Given the description of an element on the screen output the (x, y) to click on. 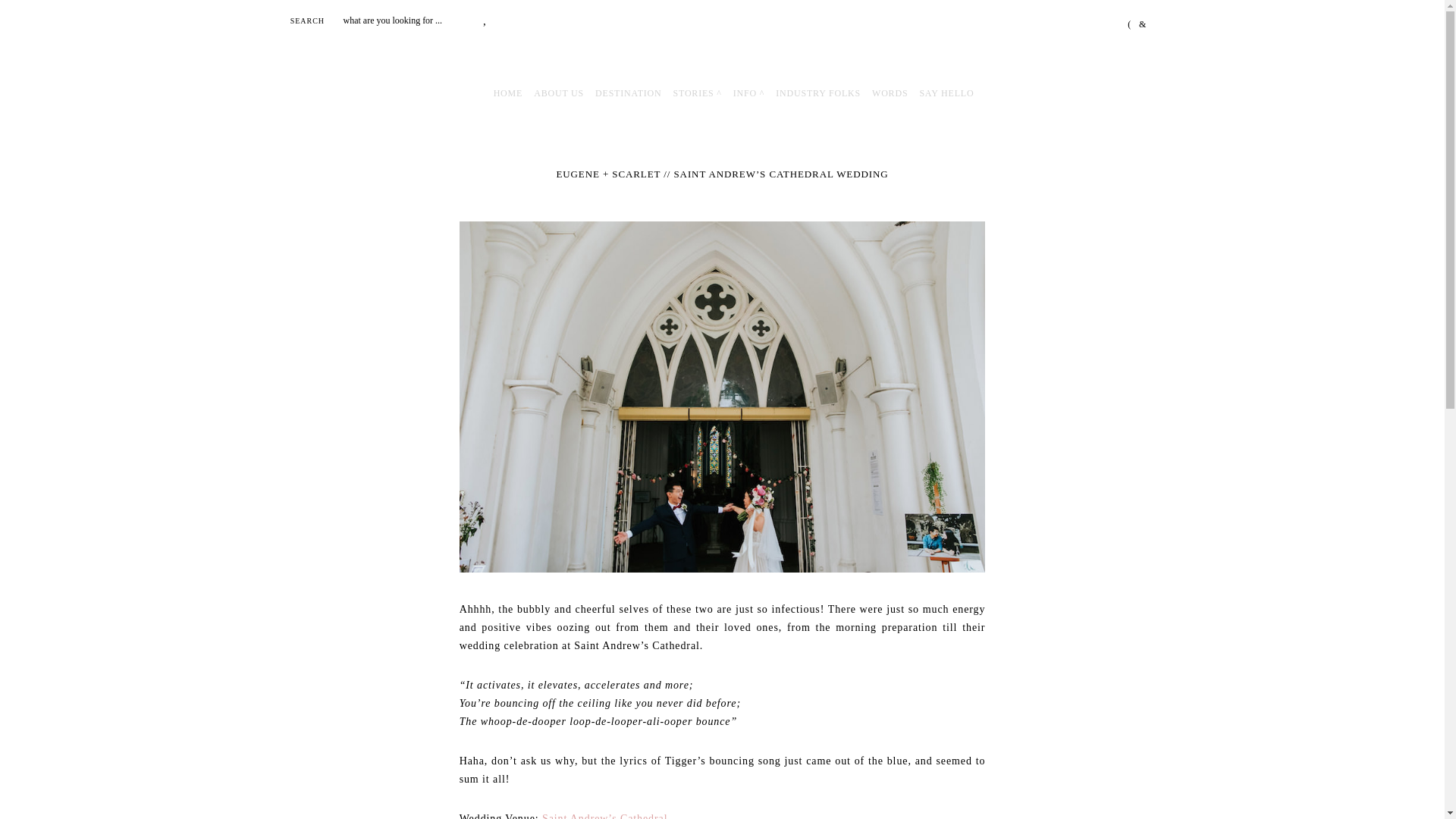
ABOUT US (558, 92)
DESTINATION (628, 92)
HOME (507, 92)
WORDS (889, 92)
INDUSTRY FOLKS (818, 92)
SAY HELLO (946, 92)
